Given the description of an element on the screen output the (x, y) to click on. 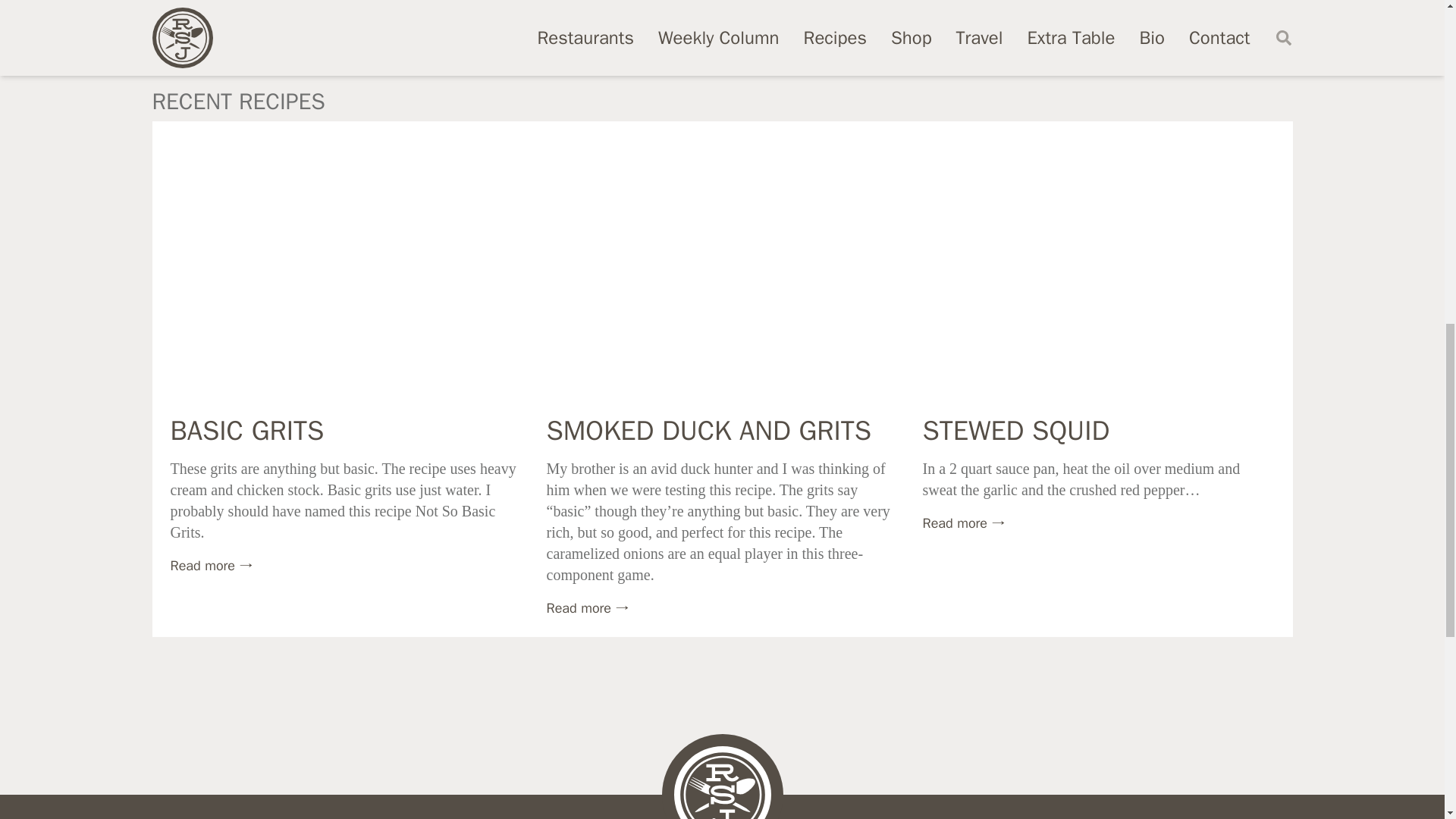
Read more (210, 565)
Read more (587, 608)
STEWED SQUID (1015, 430)
Read more (962, 522)
SMOKED DUCK AND GRITS (708, 430)
BASIC GRITS (246, 430)
